Given the description of an element on the screen output the (x, y) to click on. 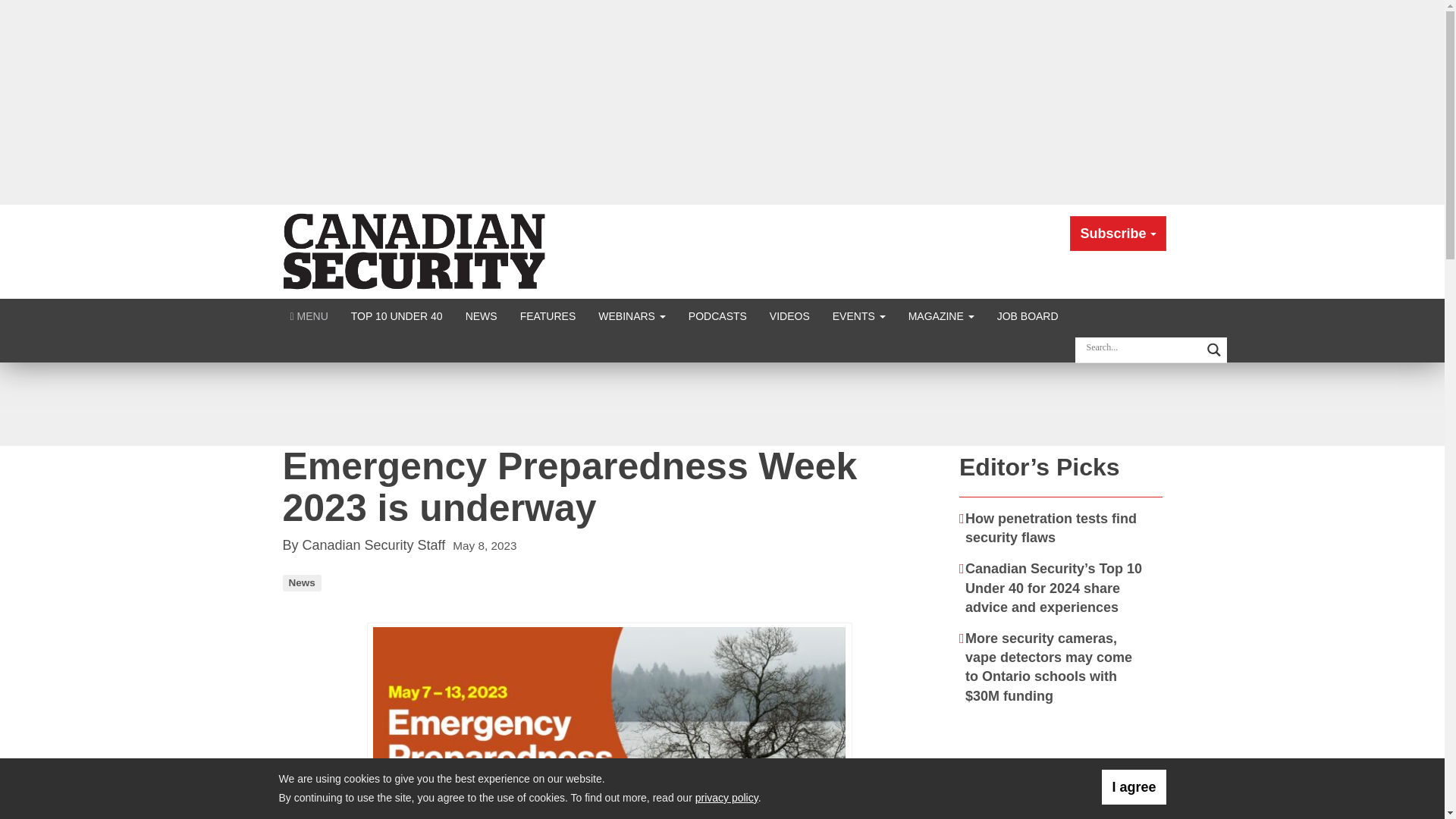
Canadian Security Magazine (415, 250)
TOP 10 UNDER 40 (396, 315)
PODCASTS (717, 315)
3rd party ad content (1061, 768)
MAGAZINE (940, 315)
EVENTS (858, 315)
FEATURES (548, 315)
3rd party ad content (721, 404)
VIDEOS (789, 315)
NEWS (481, 315)
JOB BOARD (1027, 315)
MENU (309, 315)
Click to show site navigation (309, 315)
Subscribe (1118, 233)
